Given the description of an element on the screen output the (x, y) to click on. 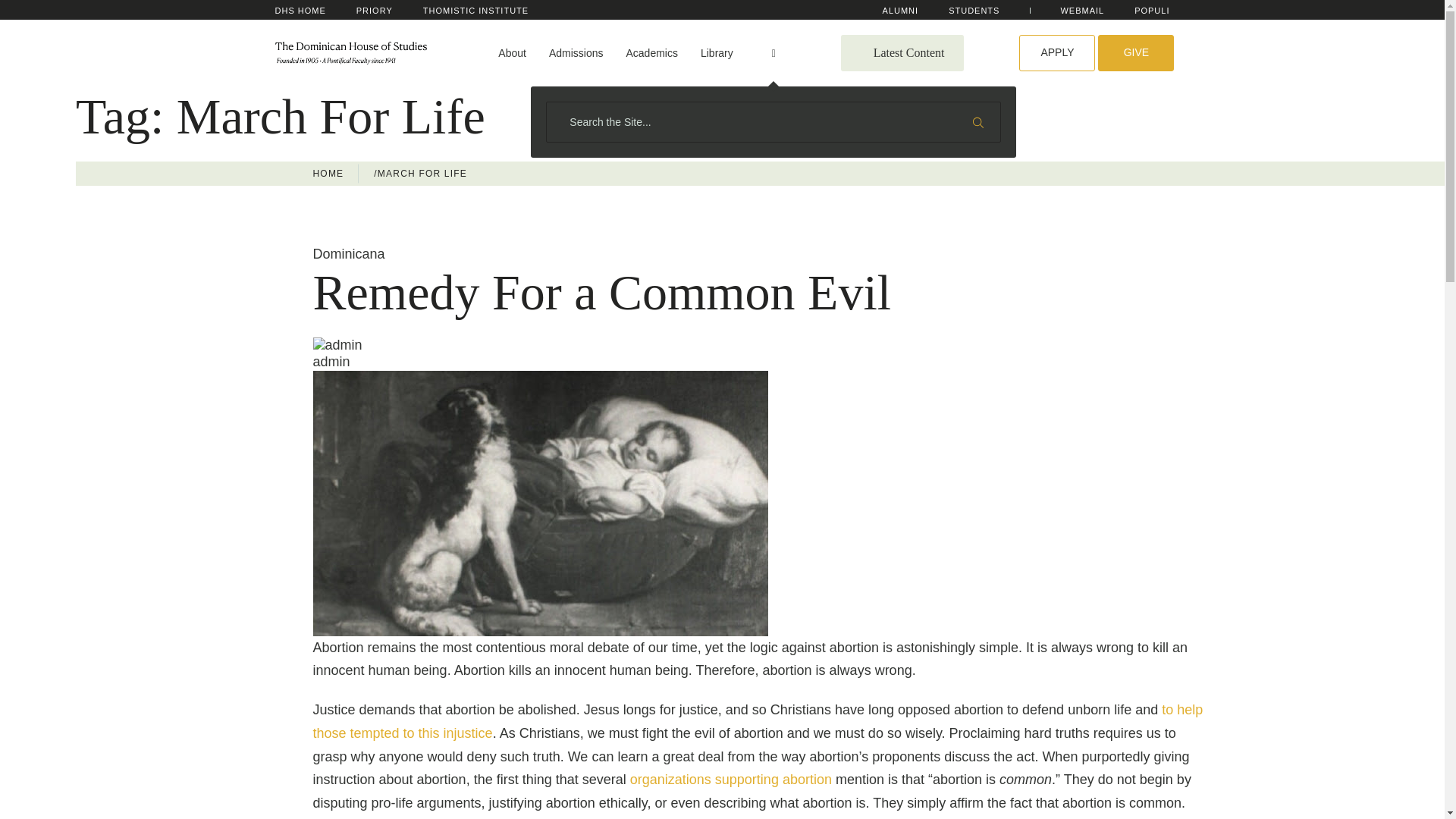
WEBMAIL (1081, 10)
THOMISTIC INSTITUTE (475, 10)
PRIORY (374, 10)
ALUMNI (900, 10)
POPULI (1151, 10)
Academics (651, 53)
About (511, 53)
DHS HOME (299, 10)
Admissions (575, 53)
STUDENTS (973, 10)
